Given the description of an element on the screen output the (x, y) to click on. 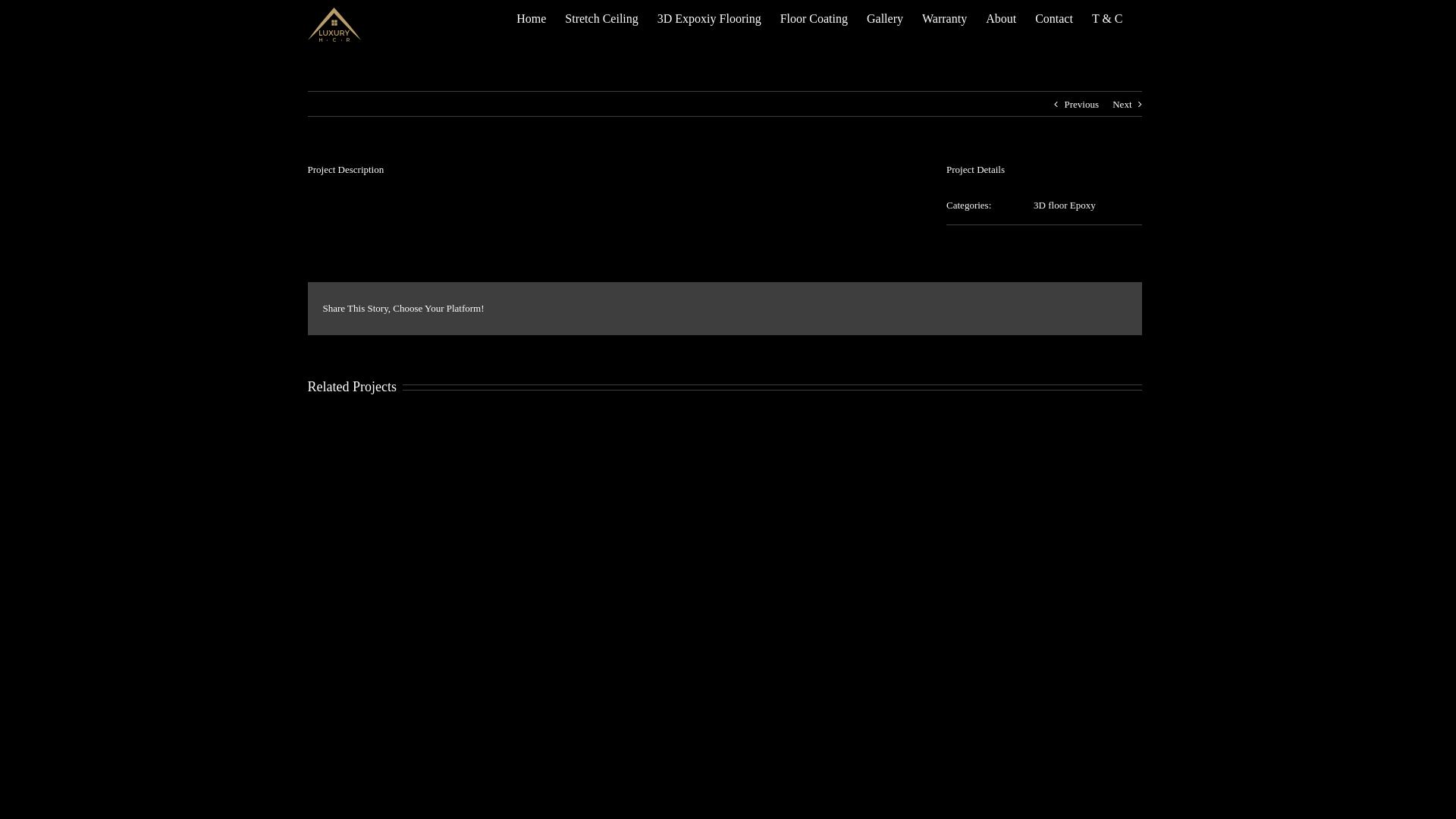
Next Element type: text (1121, 104)
Contact Element type: text (1054, 18)
3D Expoxiy Flooring Element type: text (709, 18)
About Element type: text (1000, 18)
Warranty Element type: text (944, 18)
Previous Element type: text (1080, 104)
3D floor Epoxy Element type: text (1064, 204)
T & C Element type: text (1107, 18)
Floor Coating Element type: text (813, 18)
Stretch Ceiling Element type: text (600, 18)
Gallery Element type: text (884, 18)
Home Element type: text (531, 18)
